Given the description of an element on the screen output the (x, y) to click on. 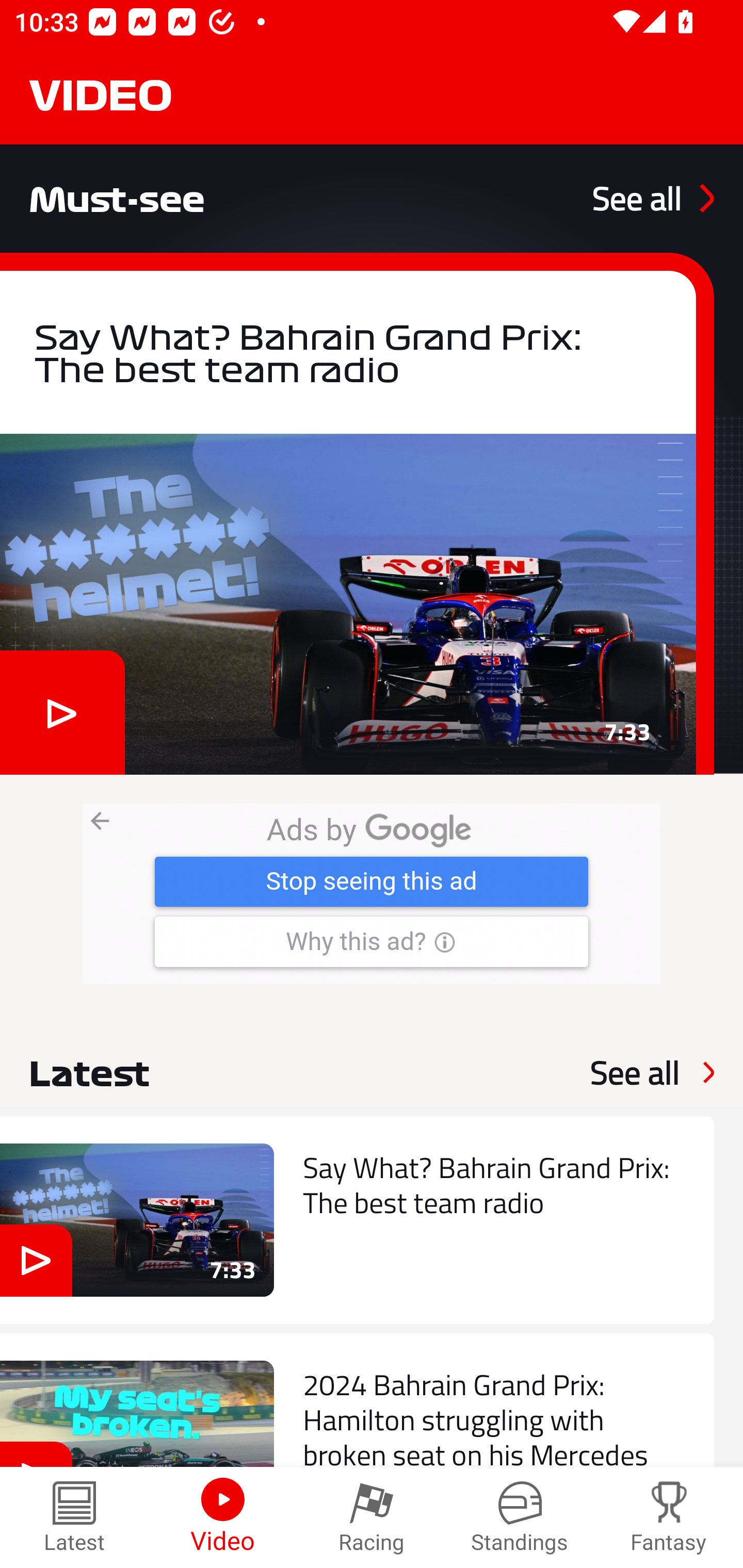
See all (653, 198)
See all (634, 1072)
Latest (74, 1517)
Racing (371, 1517)
Standings (519, 1517)
Fantasy (668, 1517)
